Given the description of an element on the screen output the (x, y) to click on. 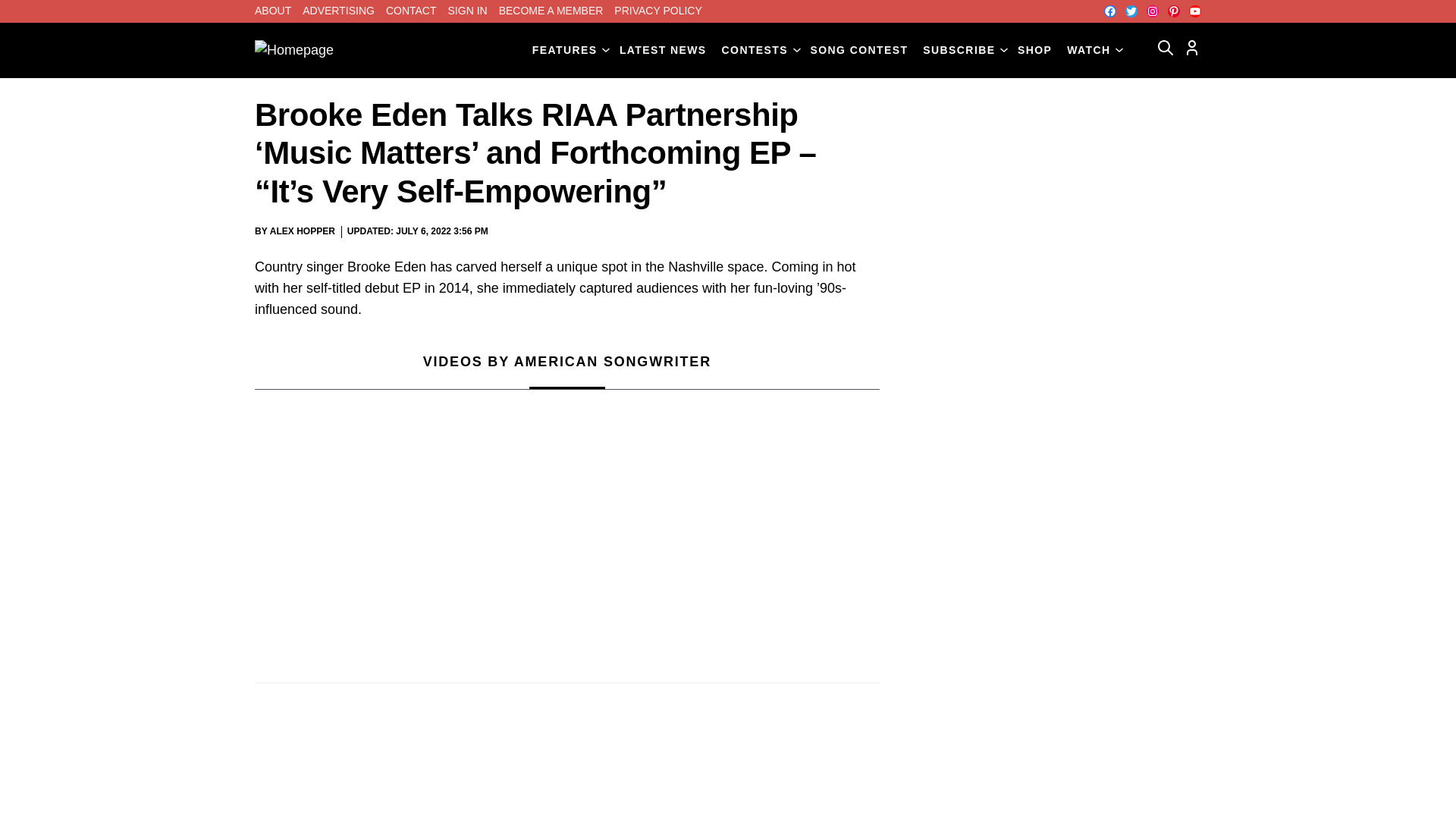
Posts by Alex Hopper (301, 231)
ADVERTISING (338, 10)
Instagram (1152, 10)
SIGN IN (467, 10)
ABOUT (272, 10)
Twitter (1131, 10)
YouTube (1195, 10)
BECOME A MEMBER (551, 10)
PRIVACY POLICY (657, 10)
July 6, 2022 3:56 pm (441, 232)
